Given the description of an element on the screen output the (x, y) to click on. 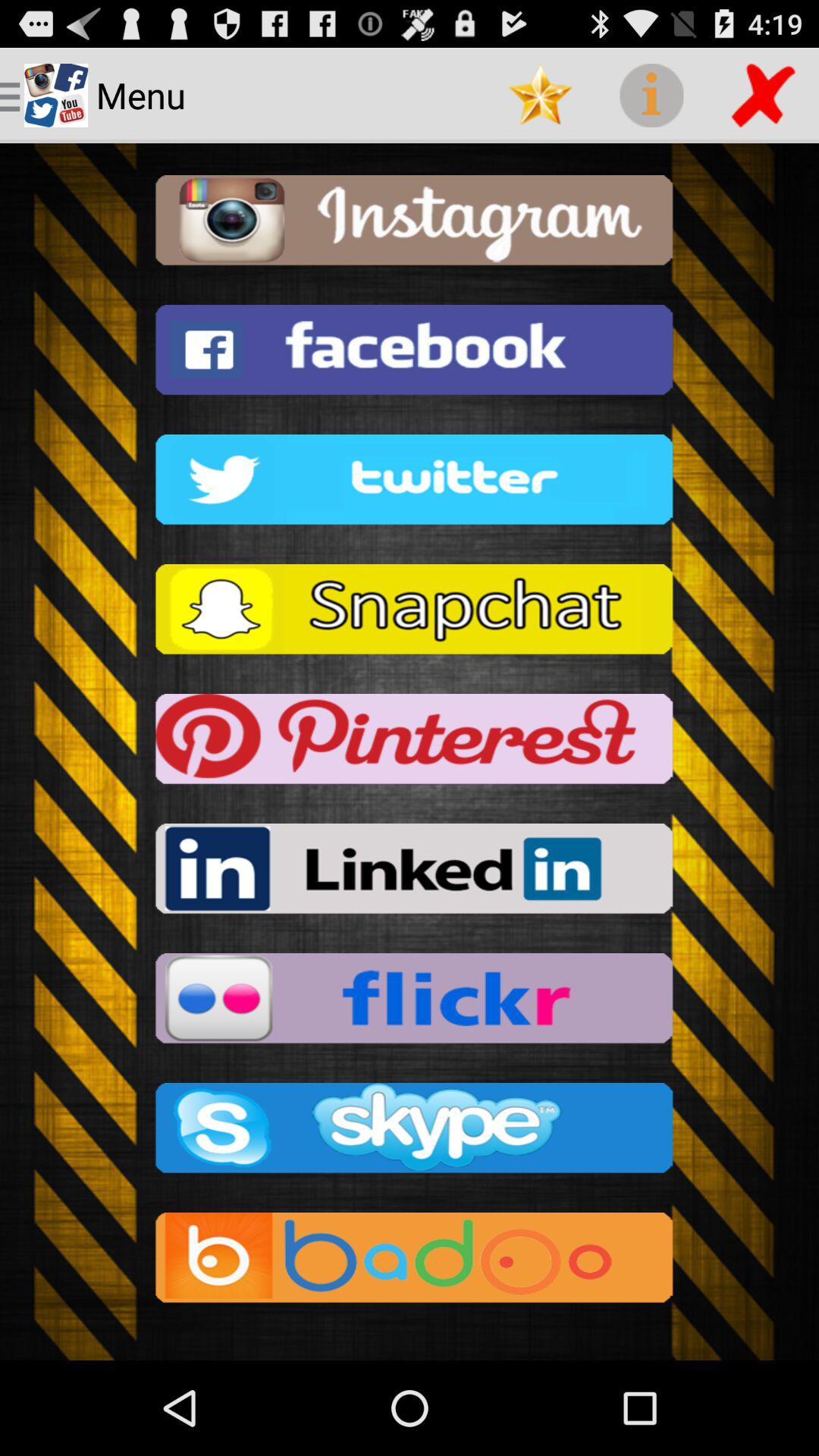
open twitter (409, 484)
